Given the description of an element on the screen output the (x, y) to click on. 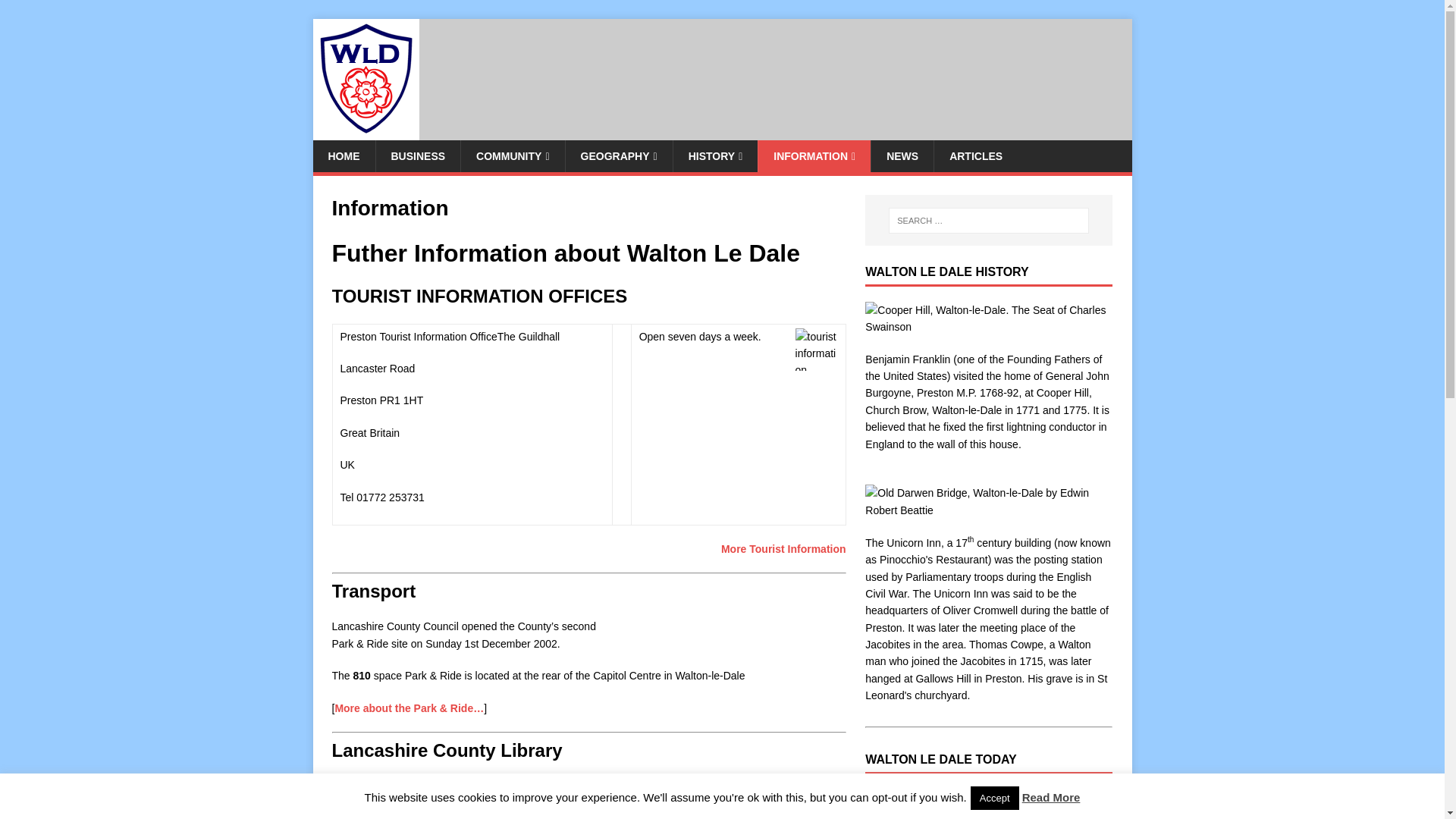
Old Darwen Bridge, Walton-le-Dale by Edwin Robert Beattie (988, 318)
Walton le Dale Website (988, 501)
